Given the description of an element on the screen output the (x, y) to click on. 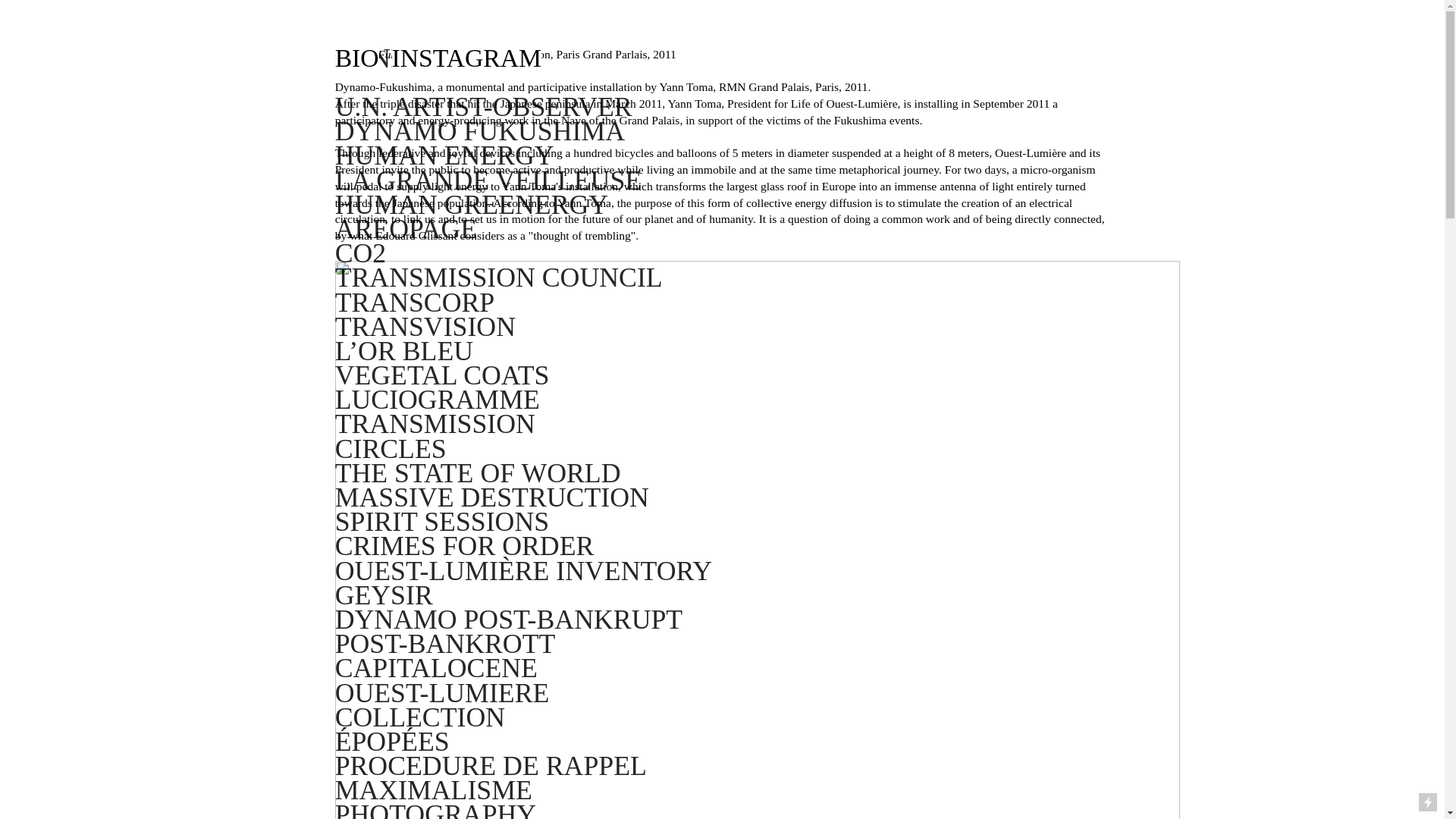
CIRCLES (390, 450)
THE STATE OF WORLD (477, 474)
TRANSCORP (414, 304)
INSTAGRAM (466, 59)
CAPITALOCENE (435, 669)
MAXIMALISME (433, 791)
COLLECTION (419, 718)
SPIRIT SESSIONS (441, 522)
OUEST-LUMIERE (442, 694)
TRANSMISSION COUNCIL (498, 278)
